Given the description of an element on the screen output the (x, y) to click on. 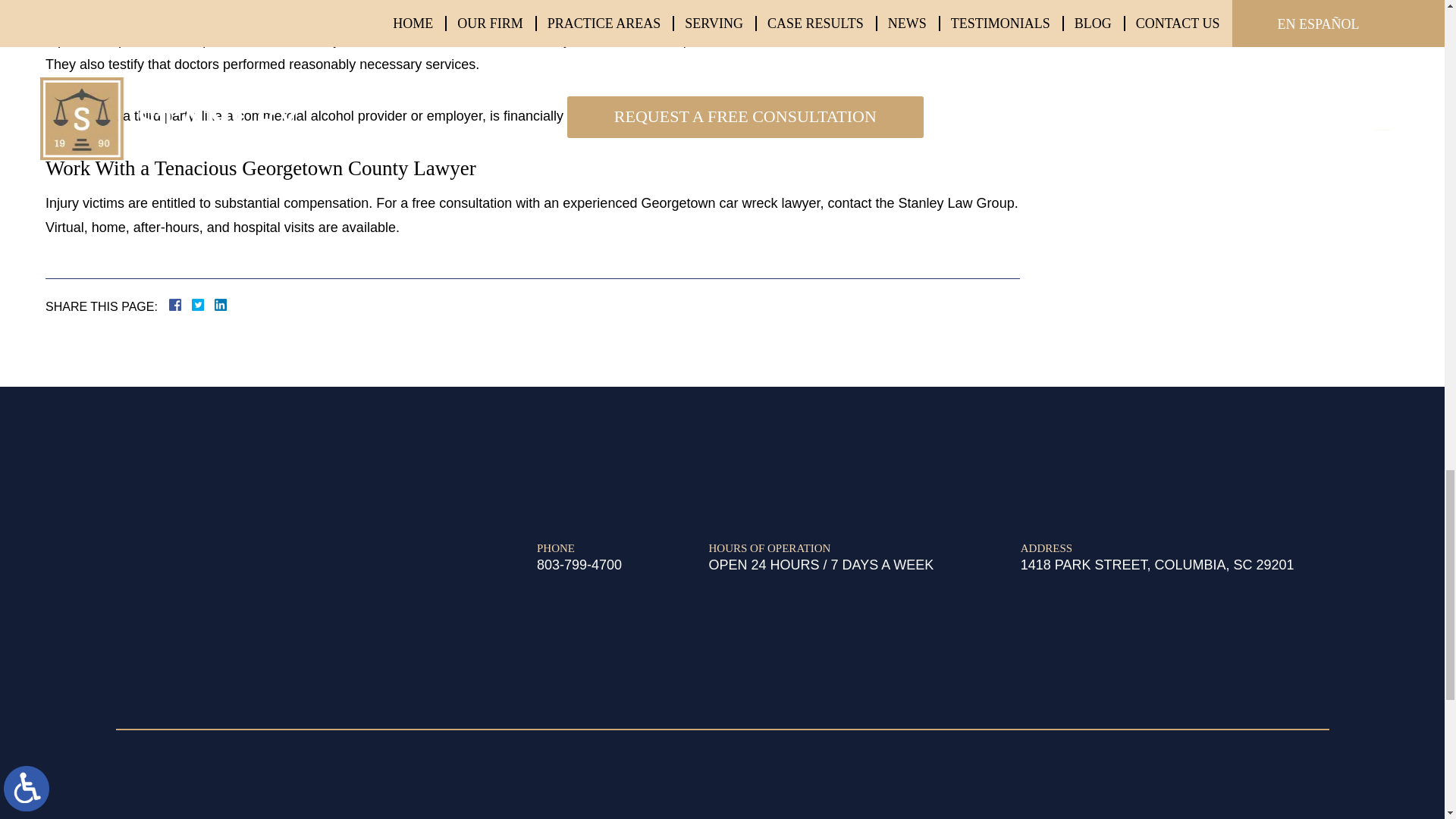
Twitter (203, 304)
LinkedIn (214, 304)
Facebook (192, 304)
